Given the description of an element on the screen output the (x, y) to click on. 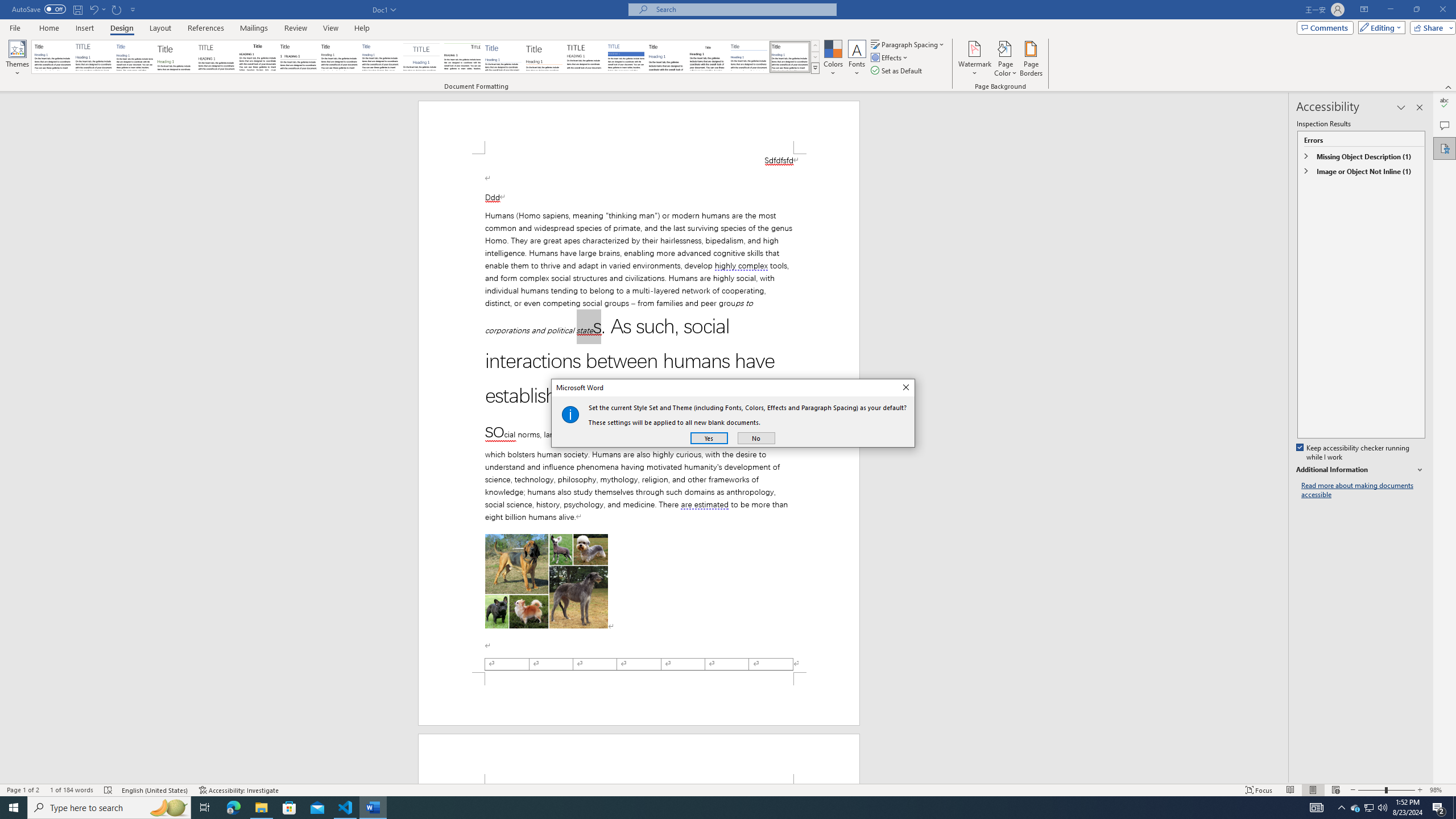
Visual Studio Code - 1 running window (345, 807)
Shaded (1355, 807)
Centered (625, 56)
Repeat Accessibility Checker (421, 56)
Keep accessibility checker running while I work (117, 9)
Word 2003 (1353, 452)
Black & White (Word 2013) (707, 56)
Page Borders... (338, 56)
